Given the description of an element on the screen output the (x, y) to click on. 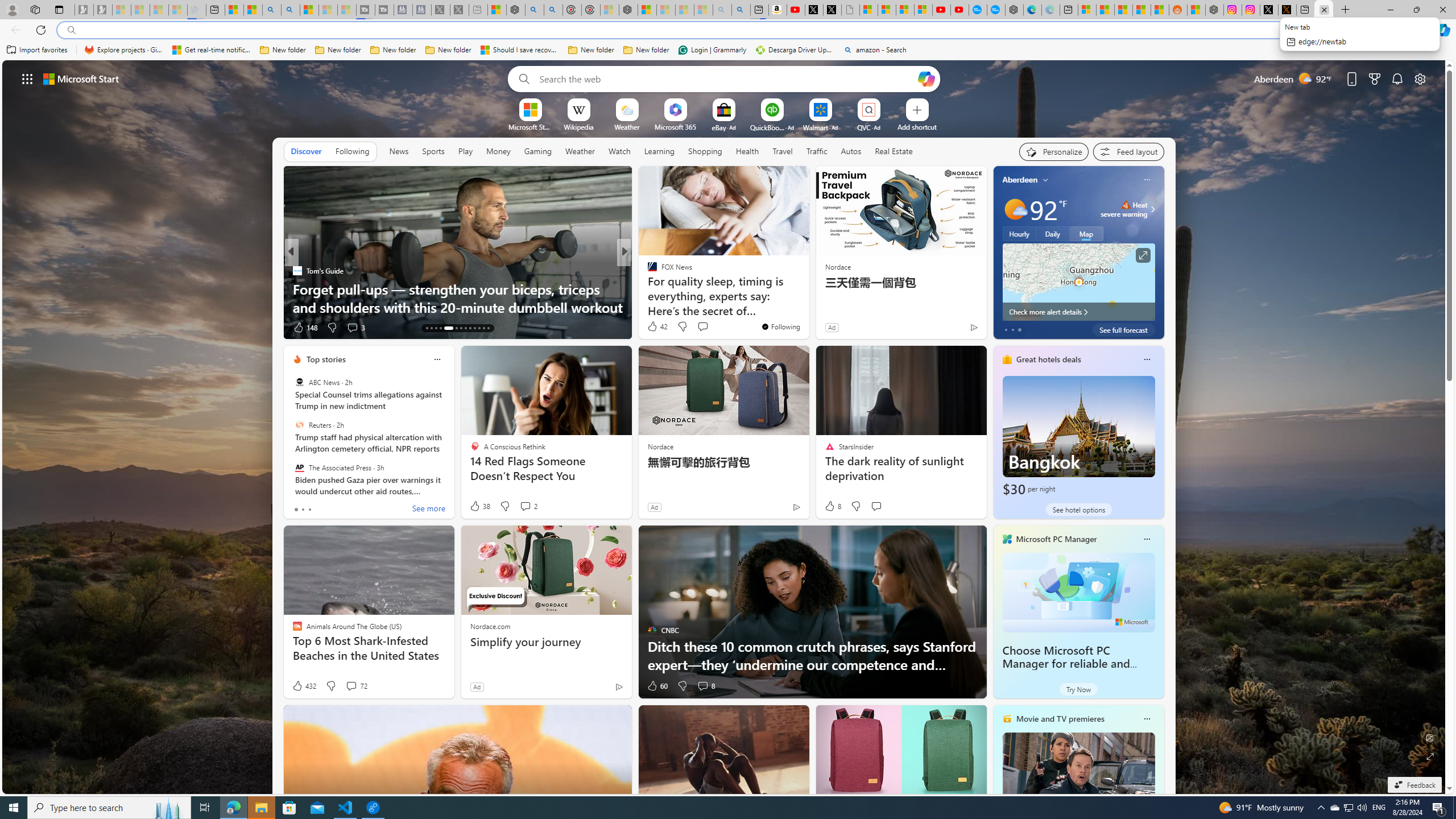
148 Like (304, 327)
8 Like (831, 505)
View comments 14 Comment (698, 327)
Feed settings (1128, 151)
Personalize your feed" (1054, 151)
Add a site (916, 126)
Favorites bar (728, 49)
